Given the description of an element on the screen output the (x, y) to click on. 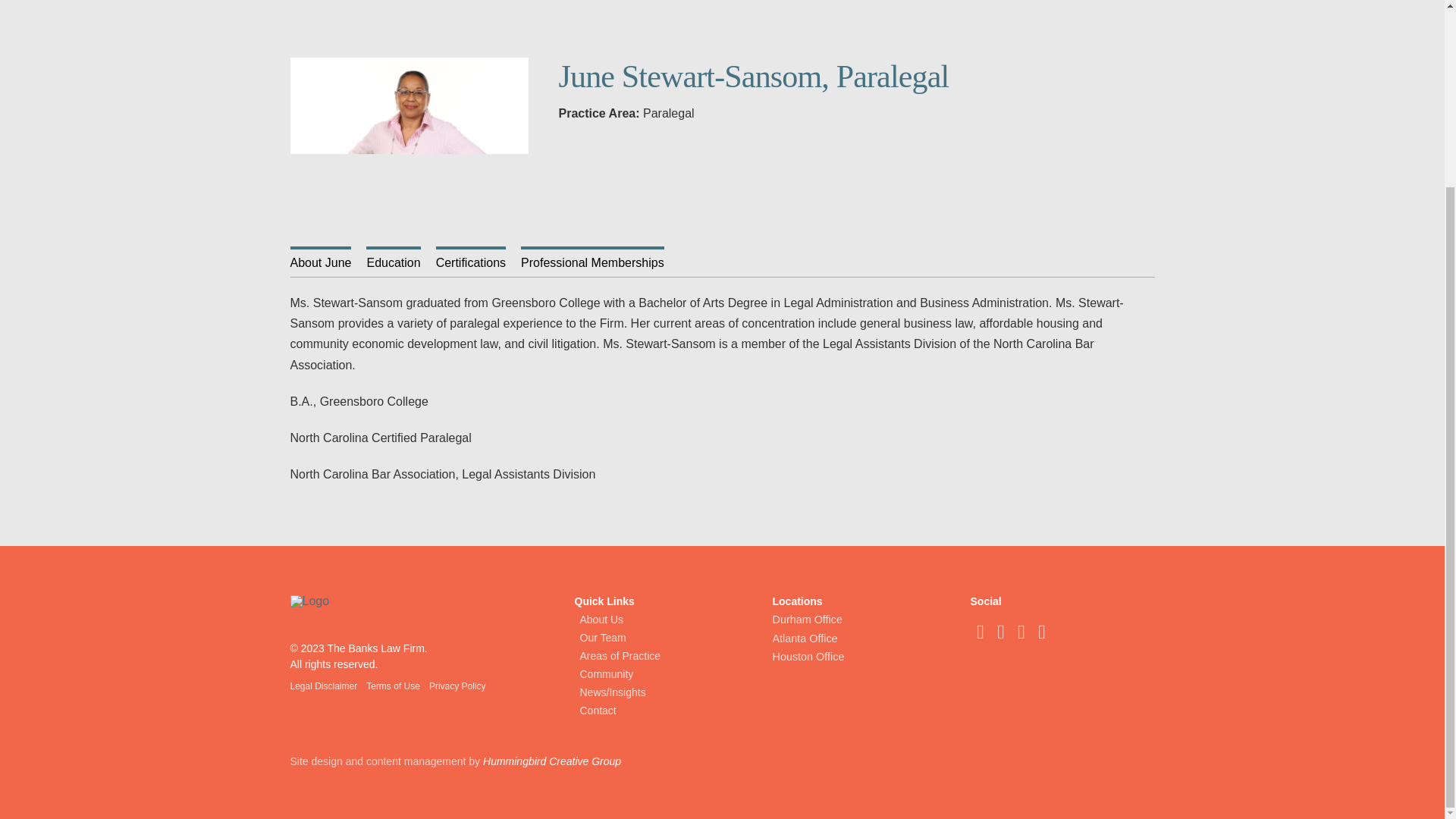
Legal Disclaimer (327, 686)
Privacy Policy (462, 686)
About Us (666, 619)
Areas of Practice (666, 656)
Our Team (666, 637)
Terms of Use (397, 686)
